Given the description of an element on the screen output the (x, y) to click on. 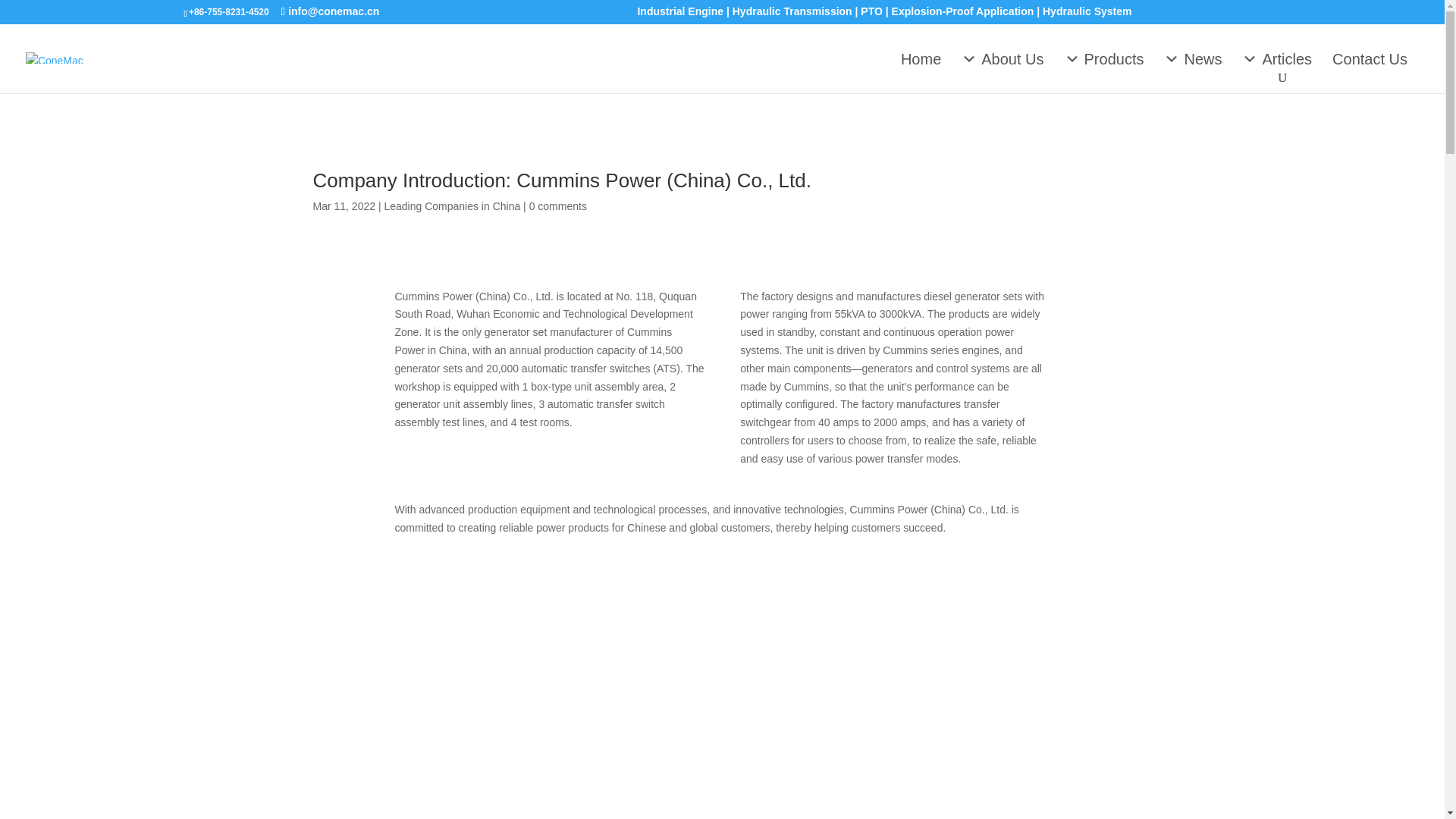
Products (1104, 58)
Home (921, 58)
About Us (1002, 58)
